Given the description of an element on the screen output the (x, y) to click on. 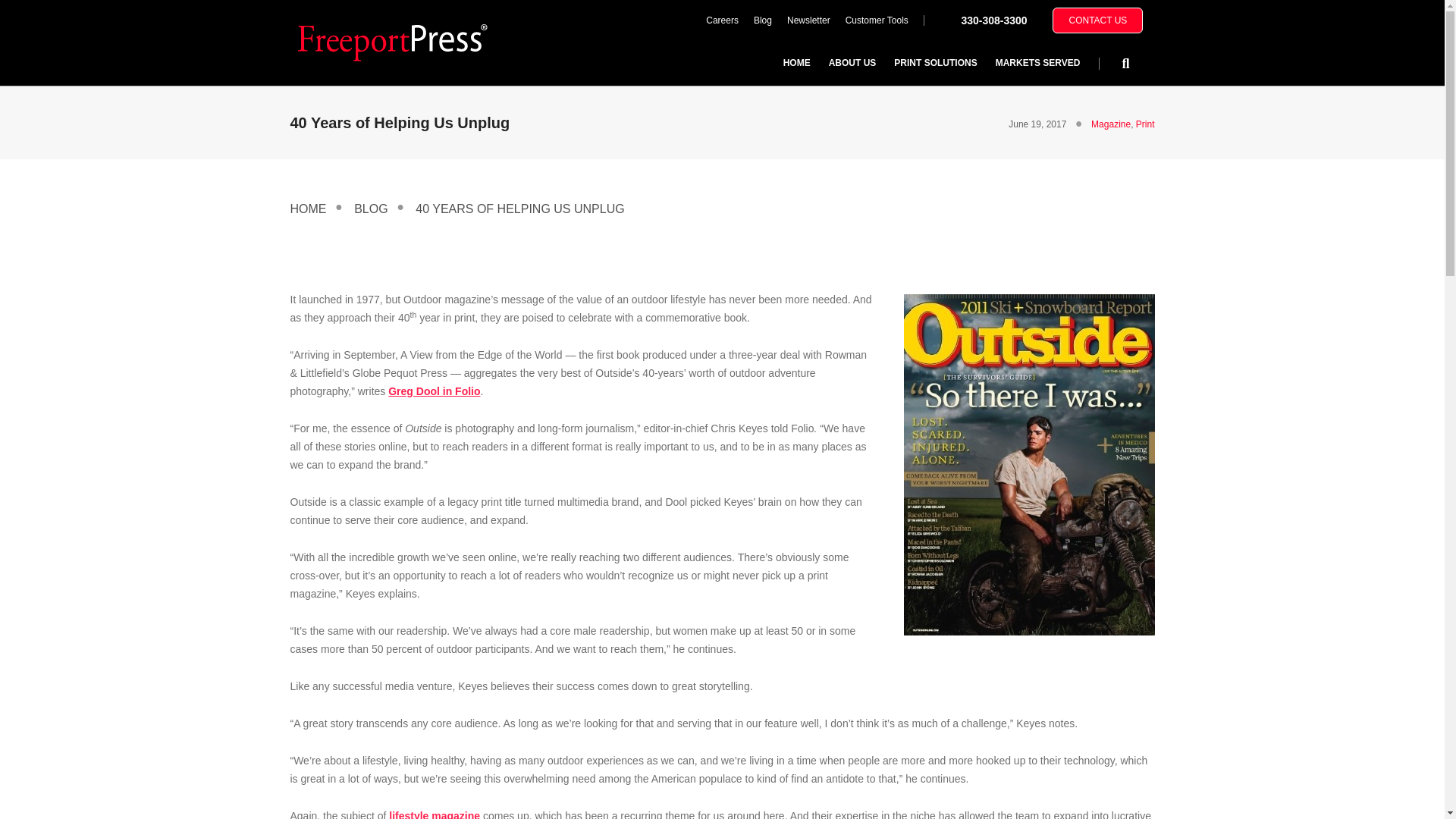
Blog (761, 20)
ABOUT US (852, 62)
Newsletter (808, 20)
Careers (721, 20)
330-308-3300 (993, 20)
Customer Tools (876, 20)
HOME (796, 62)
MARKETS SERVED (1038, 62)
PRINT SOLUTIONS (935, 62)
CONTACT US (1097, 20)
